Given the description of an element on the screen output the (x, y) to click on. 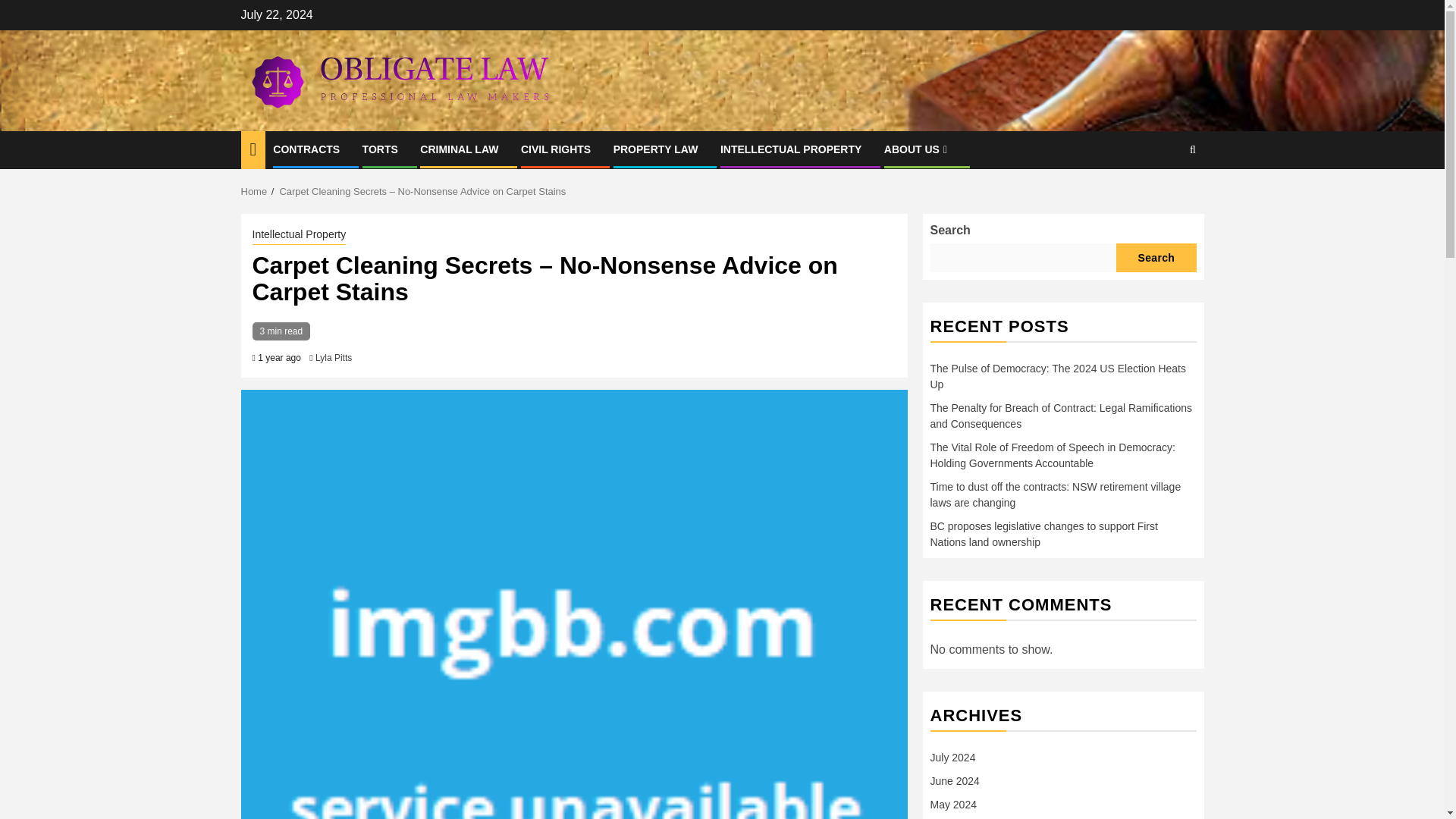
PROPERTY LAW (655, 149)
CRIMINAL LAW (458, 149)
Intellectual Property (298, 235)
Lyla Pitts (333, 357)
ABOUT US (916, 149)
Home (254, 191)
TORTS (379, 149)
INTELLECTUAL PROPERTY (790, 149)
CIVIL RIGHTS (556, 149)
Search (1163, 195)
CONTRACTS (306, 149)
